Given the description of an element on the screen output the (x, y) to click on. 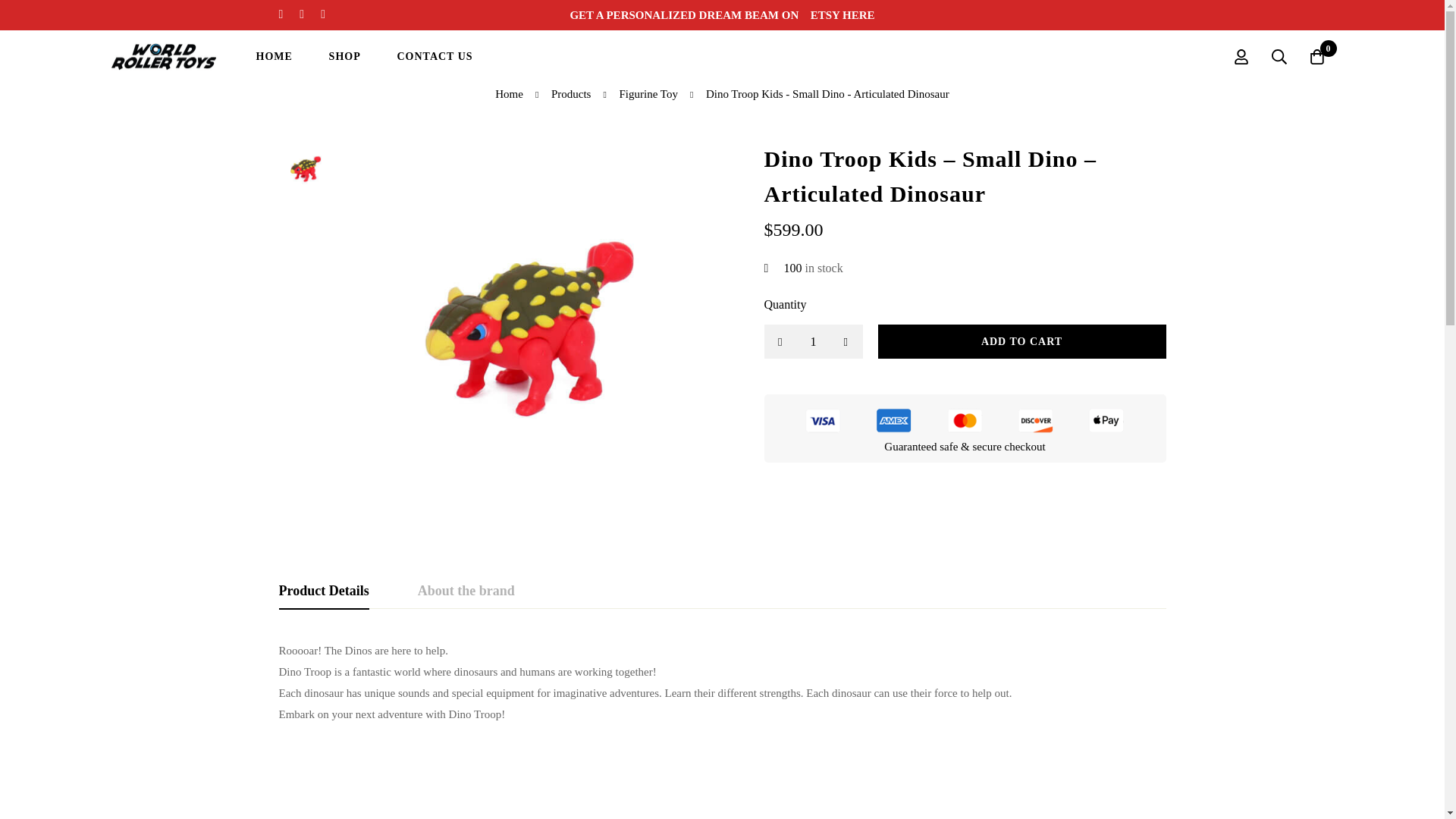
0 (1317, 56)
HOME (274, 56)
ETSY HERE (842, 14)
1 (813, 341)
- (780, 341)
ADD TO CART (1021, 341)
Products (571, 93)
Figurine Toy (647, 93)
CONTACT US (434, 56)
Home (508, 93)
